Given the description of an element on the screen output the (x, y) to click on. 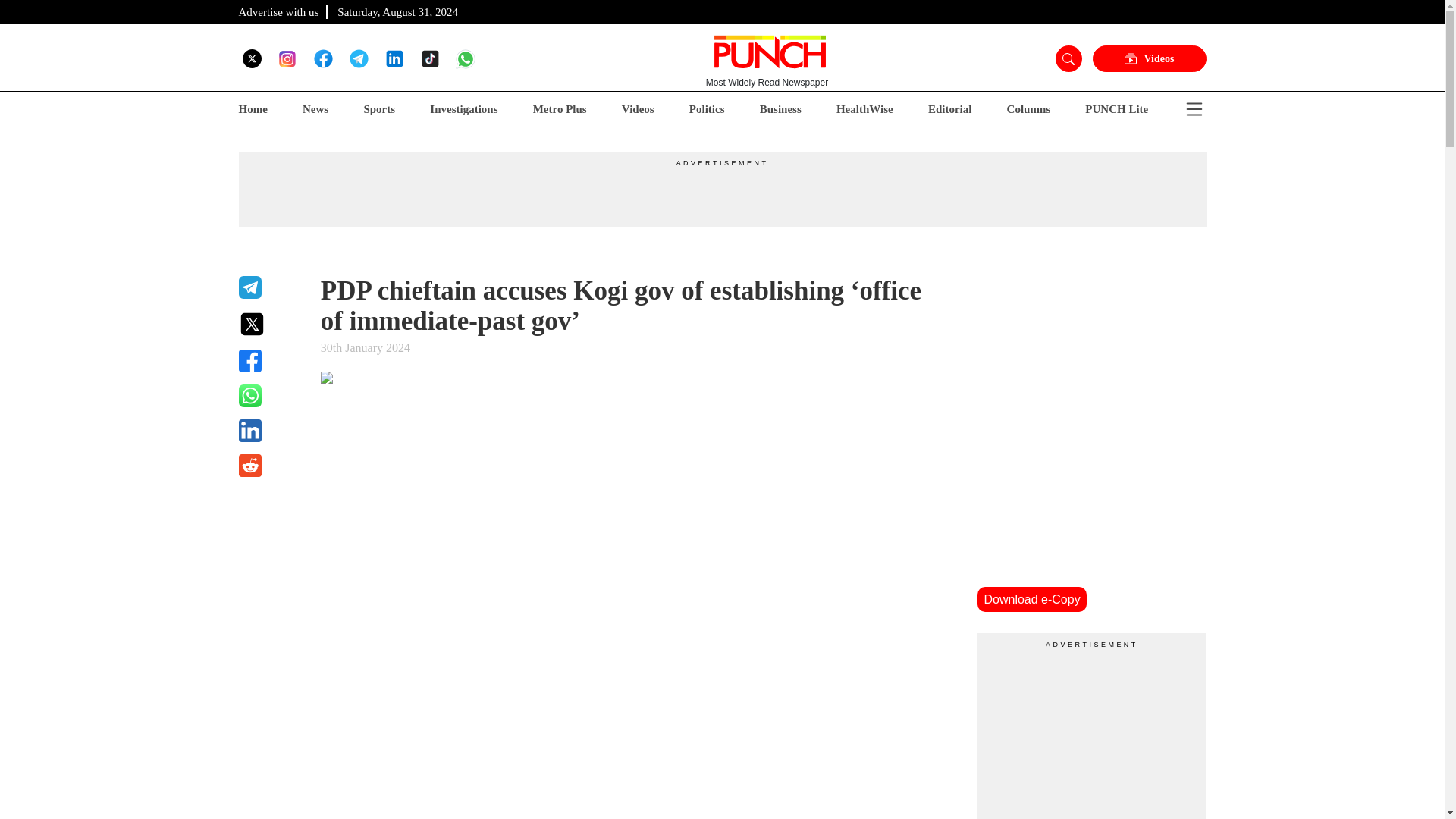
Follow Us on Facebook (323, 58)
Saturday, August 31, 2024 (397, 11)
HealthWise (864, 109)
Business (781, 109)
Share on Telegram (269, 287)
Follow Us on X (252, 58)
Follow Our Channel on Telegram (358, 58)
Share on Linkedin (269, 430)
Investigations (463, 109)
Share on Twitter (269, 324)
